Given the description of an element on the screen output the (x, y) to click on. 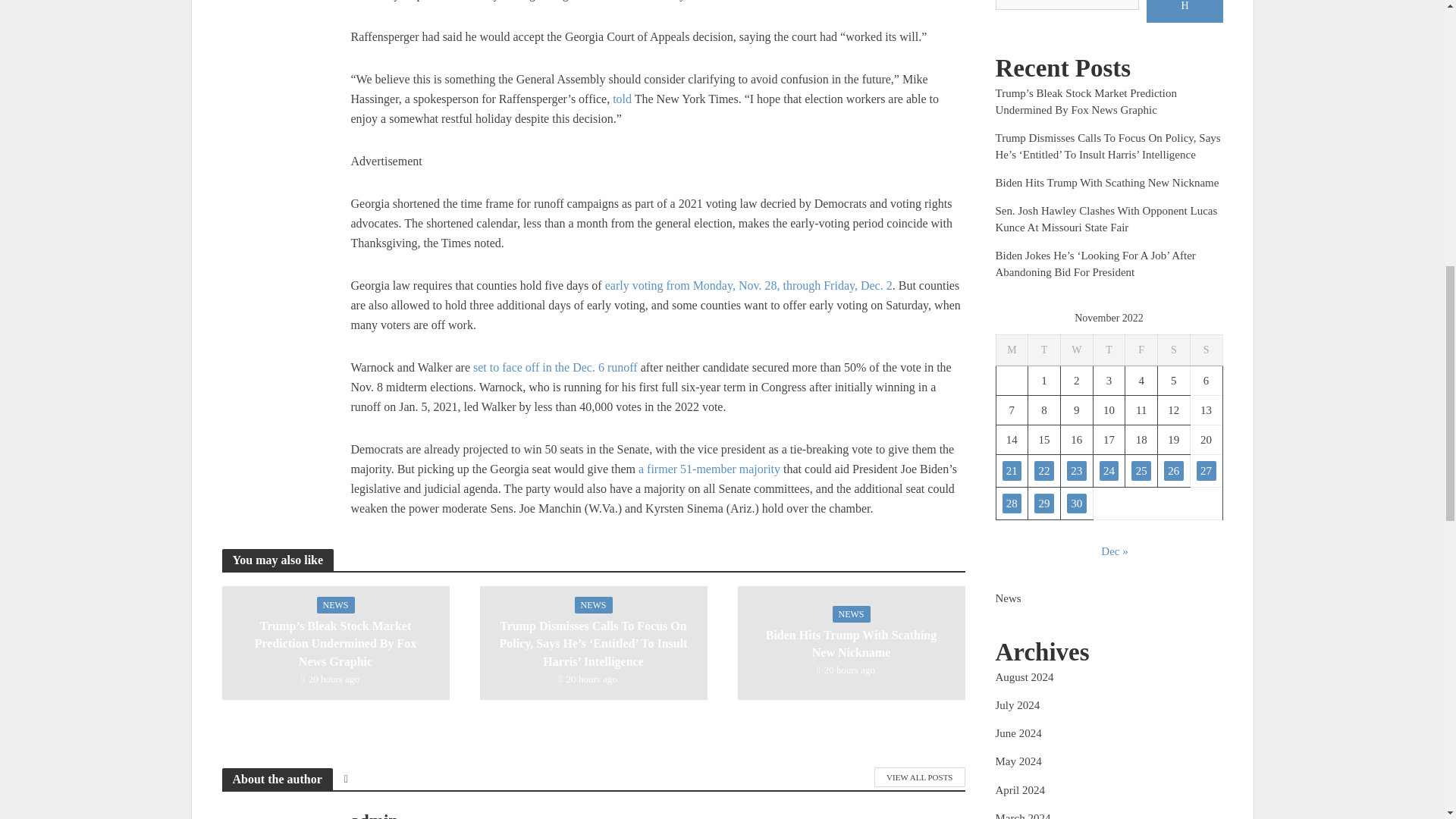
Tuesday (1044, 350)
Sunday (1206, 350)
Thursday (1109, 350)
Saturday (1174, 350)
Wednesday (1076, 350)
Monday (1011, 350)
Friday (1141, 350)
